Given the description of an element on the screen output the (x, y) to click on. 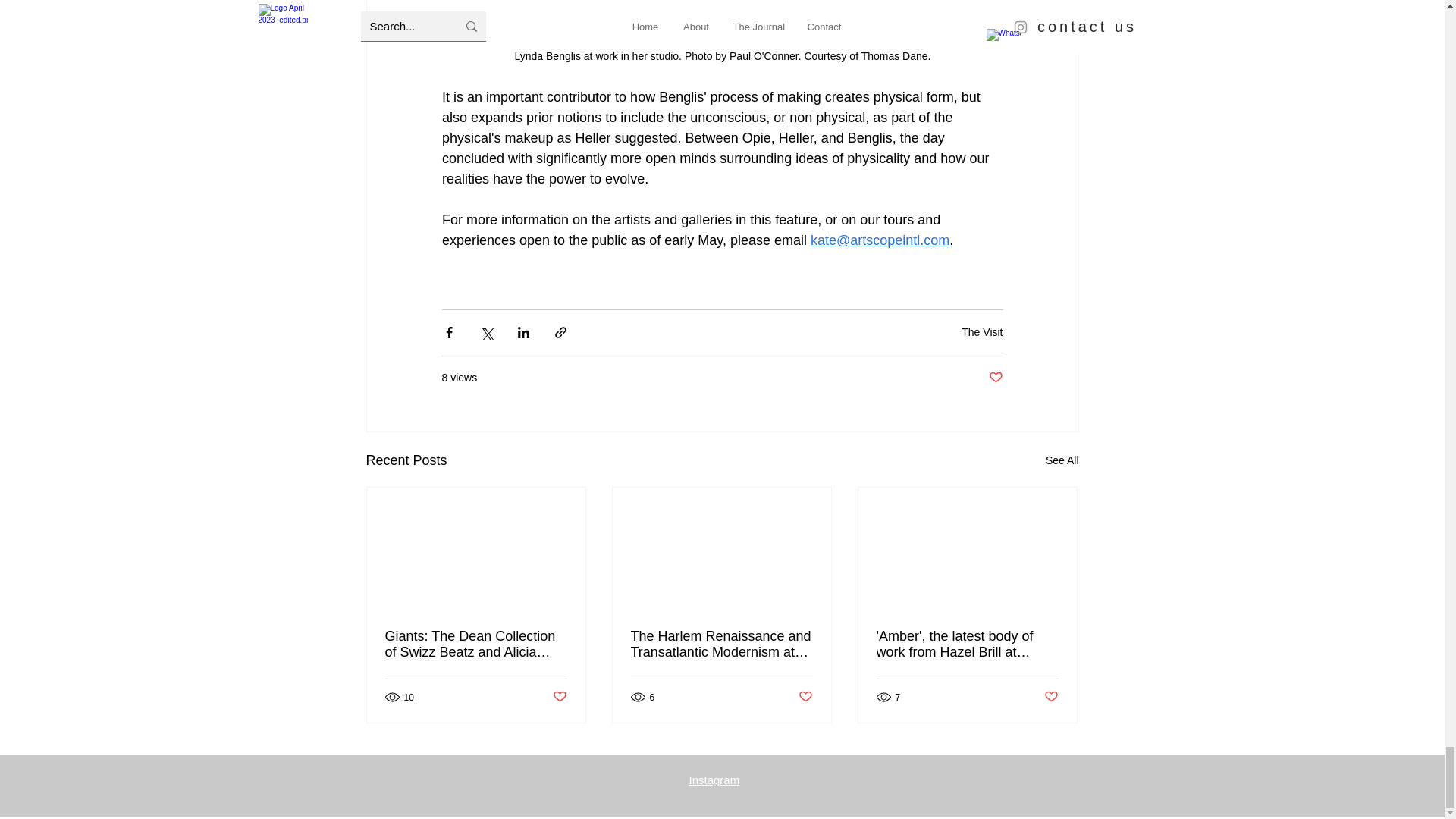
See All (1061, 460)
Post not marked as liked (1050, 697)
The Visit (981, 331)
Post not marked as liked (995, 377)
Post not marked as liked (558, 697)
Post not marked as liked (804, 697)
Instagram (713, 779)
